Given the description of an element on the screen output the (x, y) to click on. 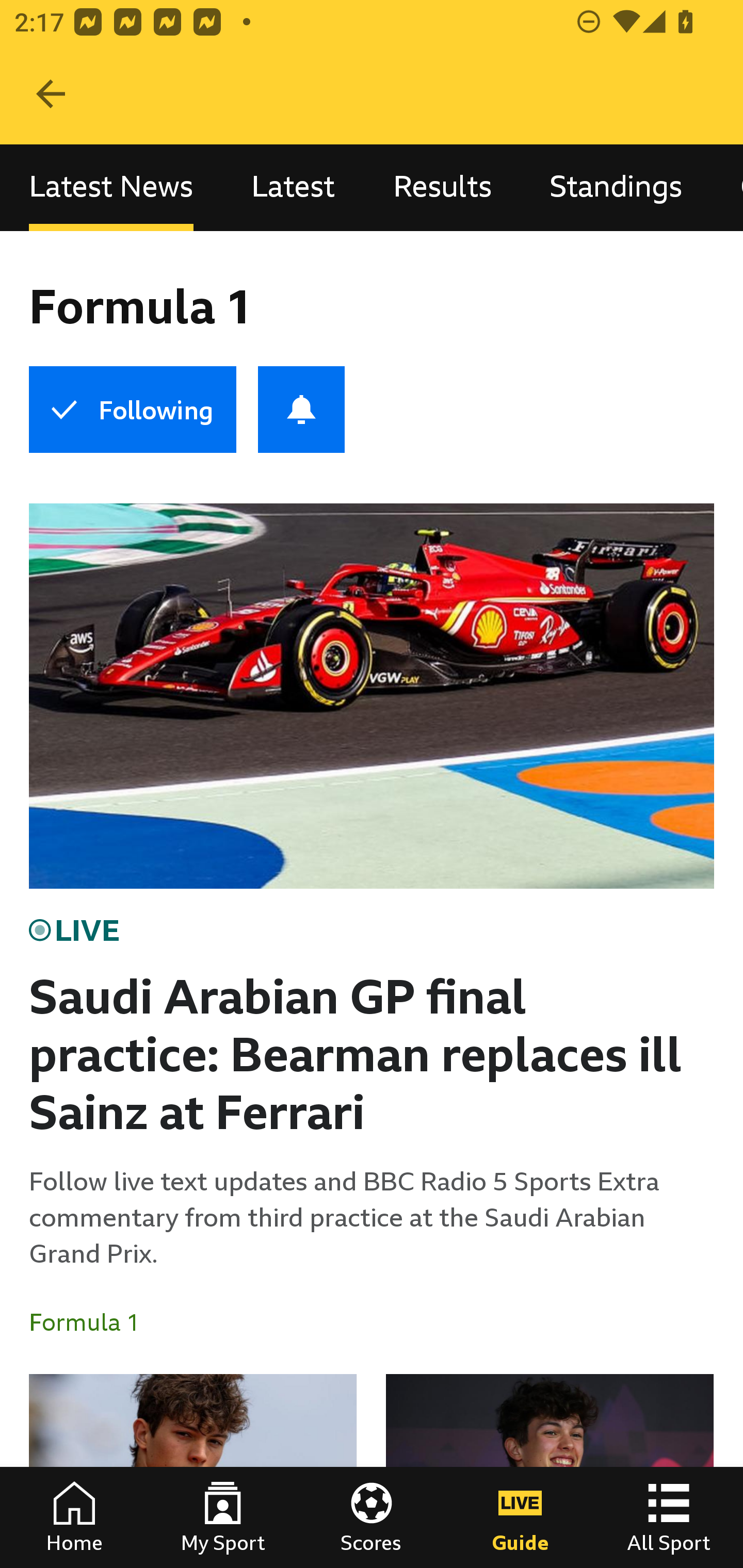
Navigate up (50, 93)
Latest News, selected Latest News (111, 187)
Latest (293, 187)
Results (442, 187)
Standings (615, 187)
Following Formula 1 Following (132, 409)
Push notifications for Formula 1 (300, 409)
Home (74, 1517)
My Sport (222, 1517)
Scores (371, 1517)
All Sport (668, 1517)
